Given the description of an element on the screen output the (x, y) to click on. 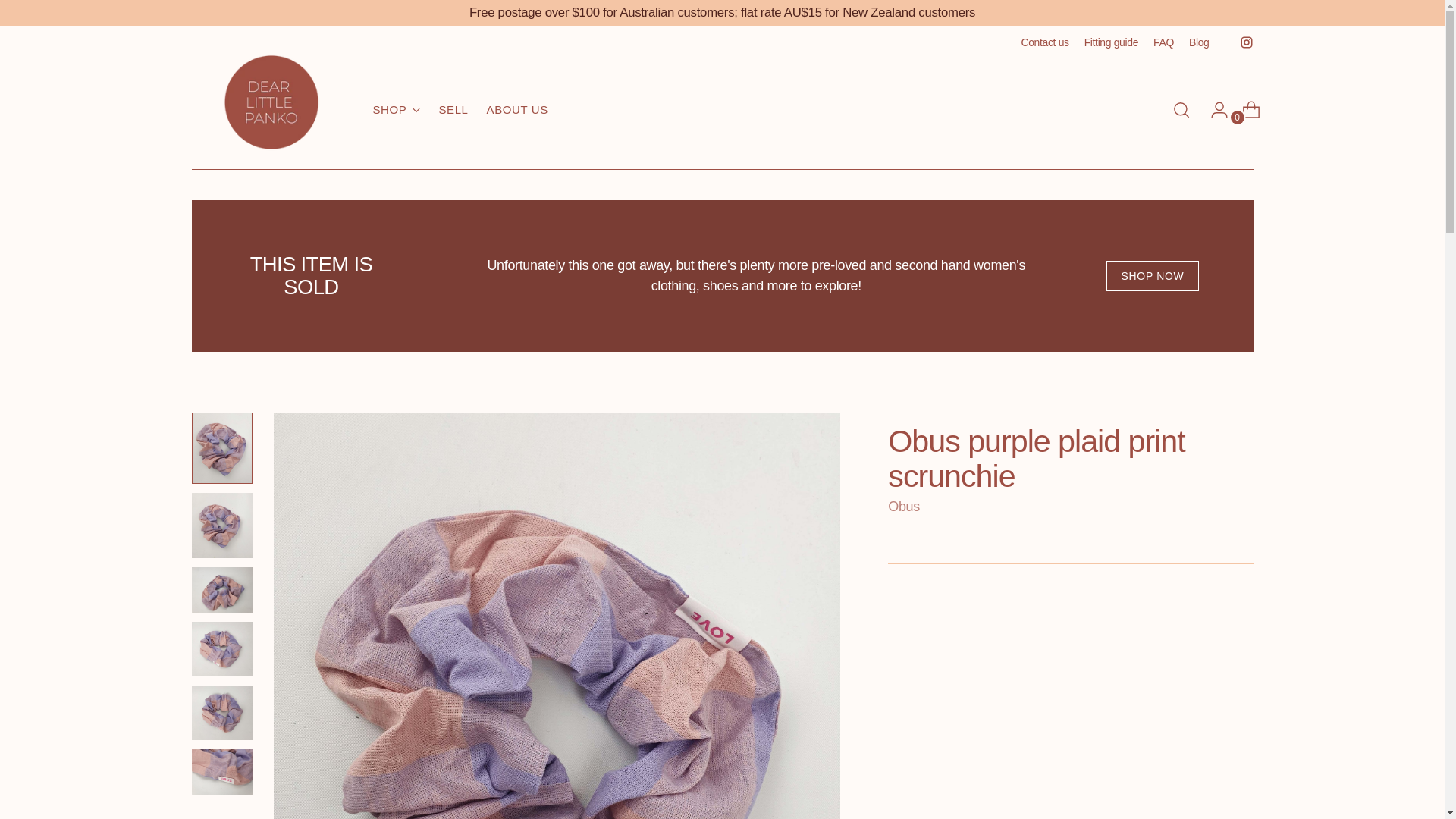
ABOUT US (517, 109)
Dear Little Panko on Instagram (1245, 42)
Contact us (1044, 41)
Fitting guide (1111, 41)
Obus (904, 506)
Blog (459, 109)
0 (1199, 41)
SELL (1245, 110)
FAQ (452, 109)
SHOP (1163, 41)
